Given the description of an element on the screen output the (x, y) to click on. 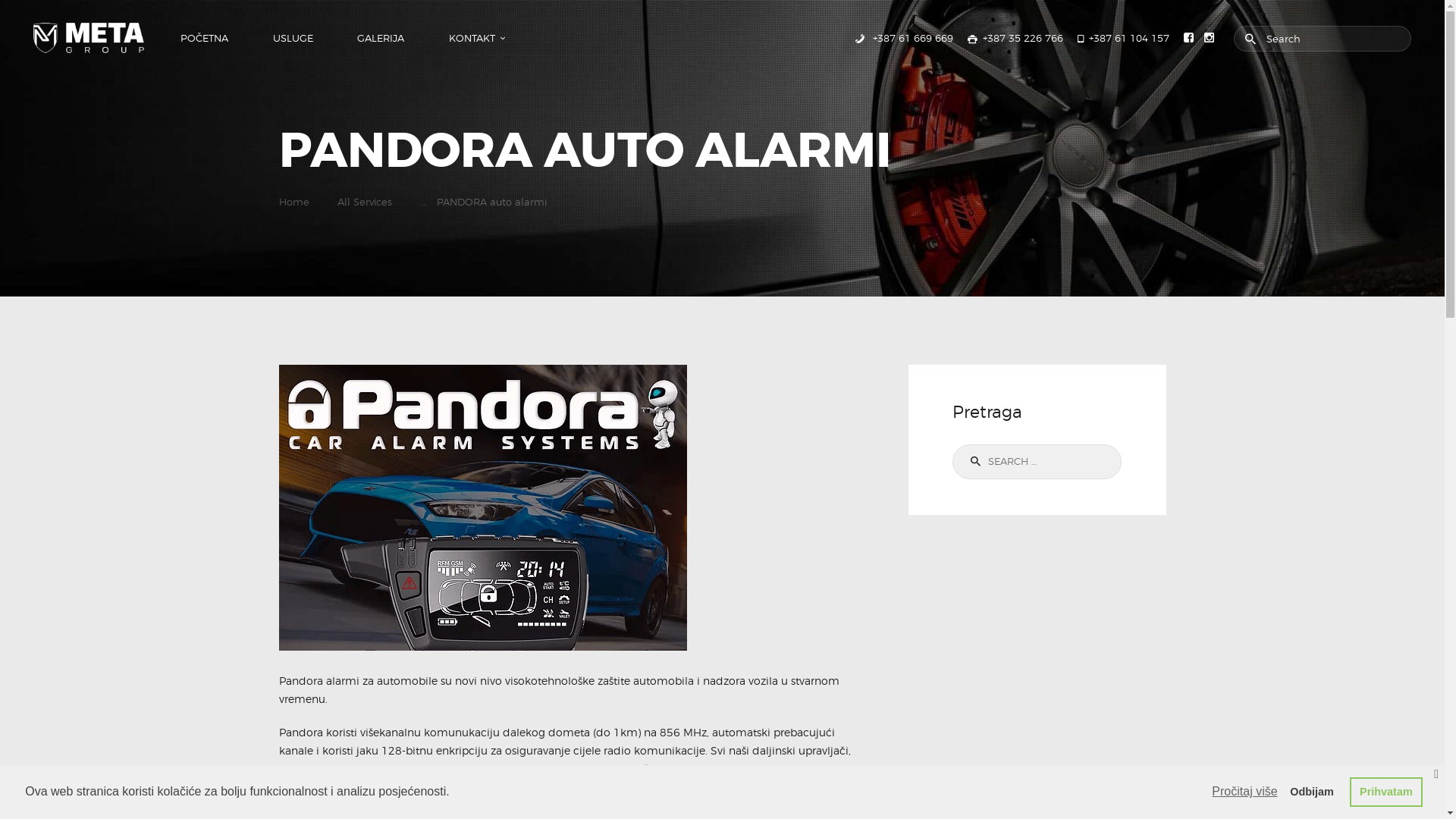
GALERIJA Element type: text (380, 37)
Prihvatam Element type: text (1386, 791)
+387 61 104 157 Element type: text (1123, 37)
USLUGE Element type: text (293, 37)
Home Element type: text (294, 201)
KONTAKT Element type: text (470, 37)
All Services Element type: text (364, 201)
Odbijam Element type: text (1312, 791)
Search Element type: text (971, 461)
+387 35 226 766 Element type: text (1015, 37)
+387 61 669 669 Element type: text (902, 37)
